Given the description of an element on the screen output the (x, y) to click on. 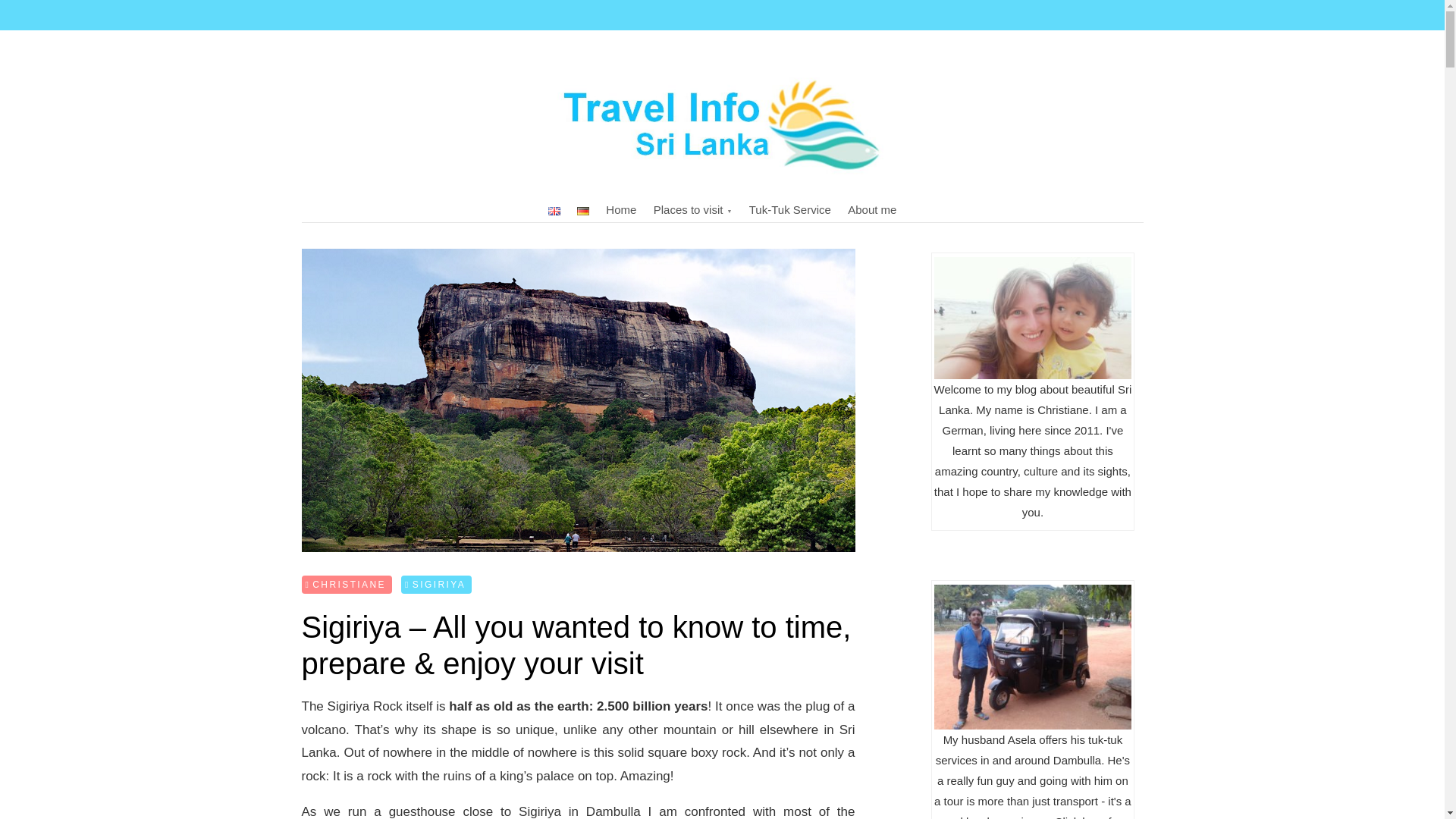
Tuk-Tuk Service (790, 209)
About me (871, 209)
Skip to main menu (295, 12)
Home (620, 209)
CHRISTIANE (346, 584)
Places to visit (692, 209)
SIGIRIYA (436, 584)
